Given the description of an element on the screen output the (x, y) to click on. 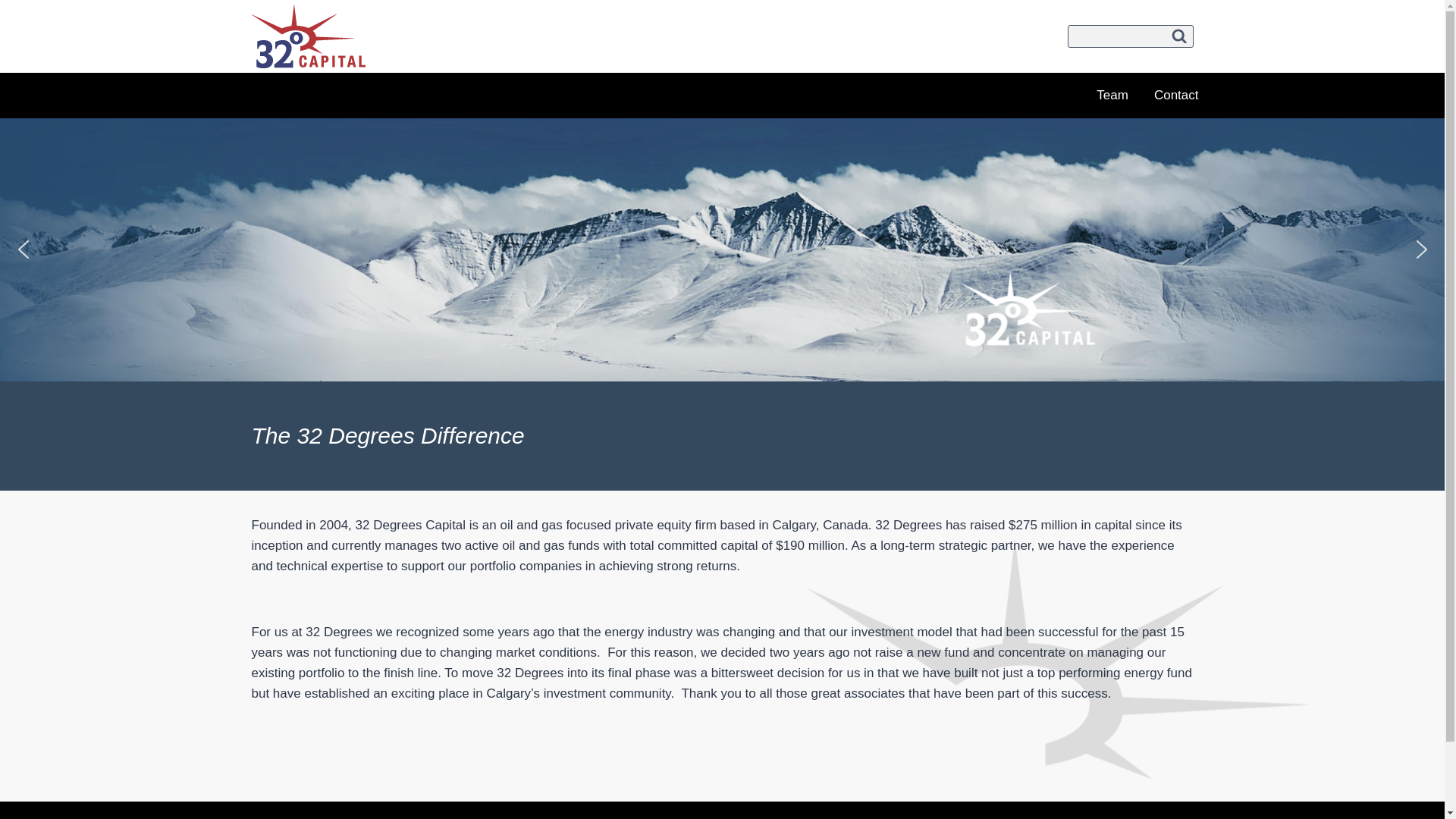
Contact Element type: text (1176, 95)
Team Element type: text (1112, 95)
